Given the description of an element on the screen output the (x, y) to click on. 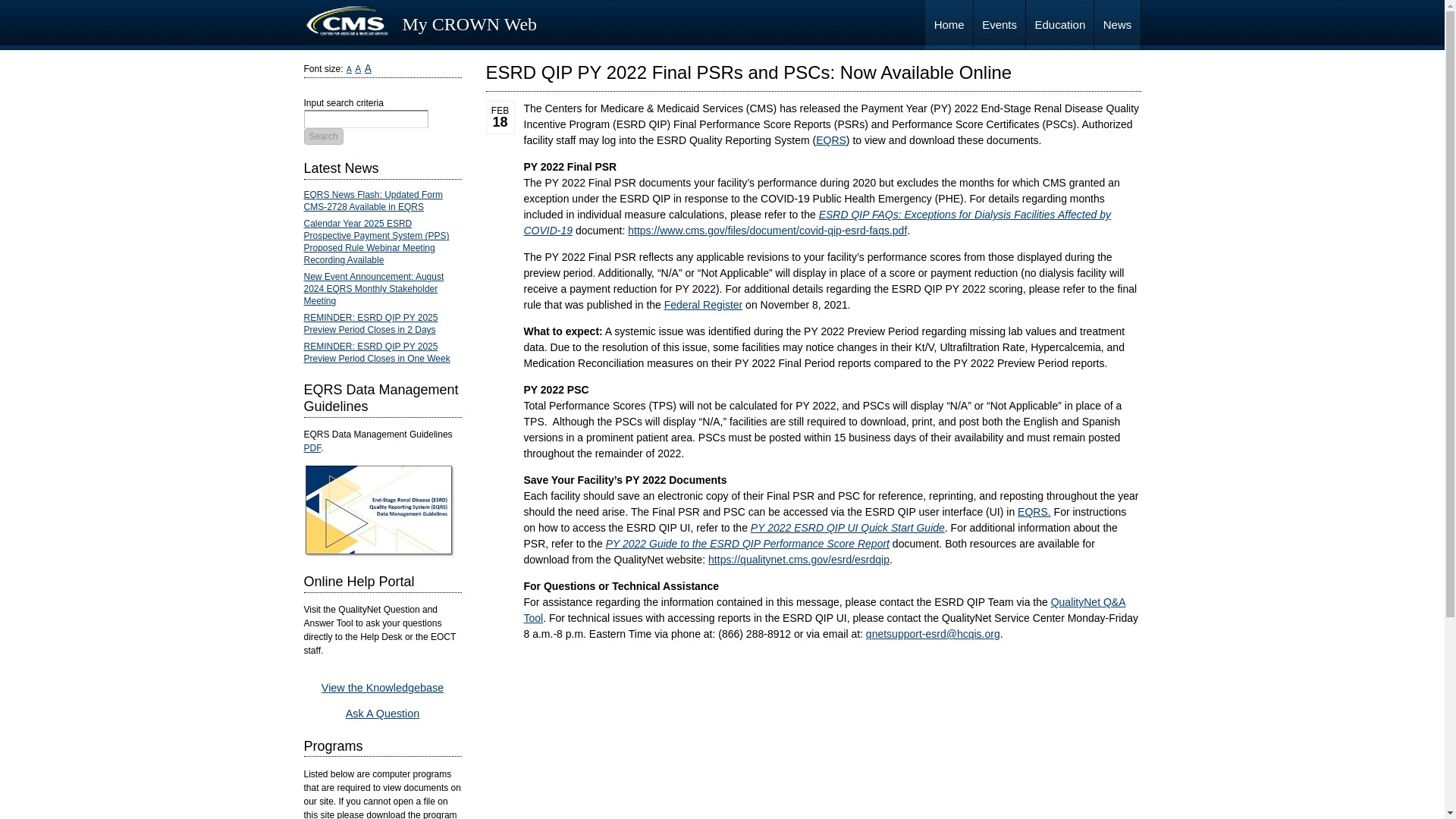
Search (322, 135)
Ask A Question (383, 713)
Latest News and Updates (1117, 24)
REMINDER: ESRD QIP PY 2025 Preview Period Closes in One Week (375, 352)
PDF (311, 448)
Federal Register (702, 304)
Search (322, 135)
PY 2022 ESRD QIP UI Quick Start Guide (847, 527)
